Given the description of an element on the screen output the (x, y) to click on. 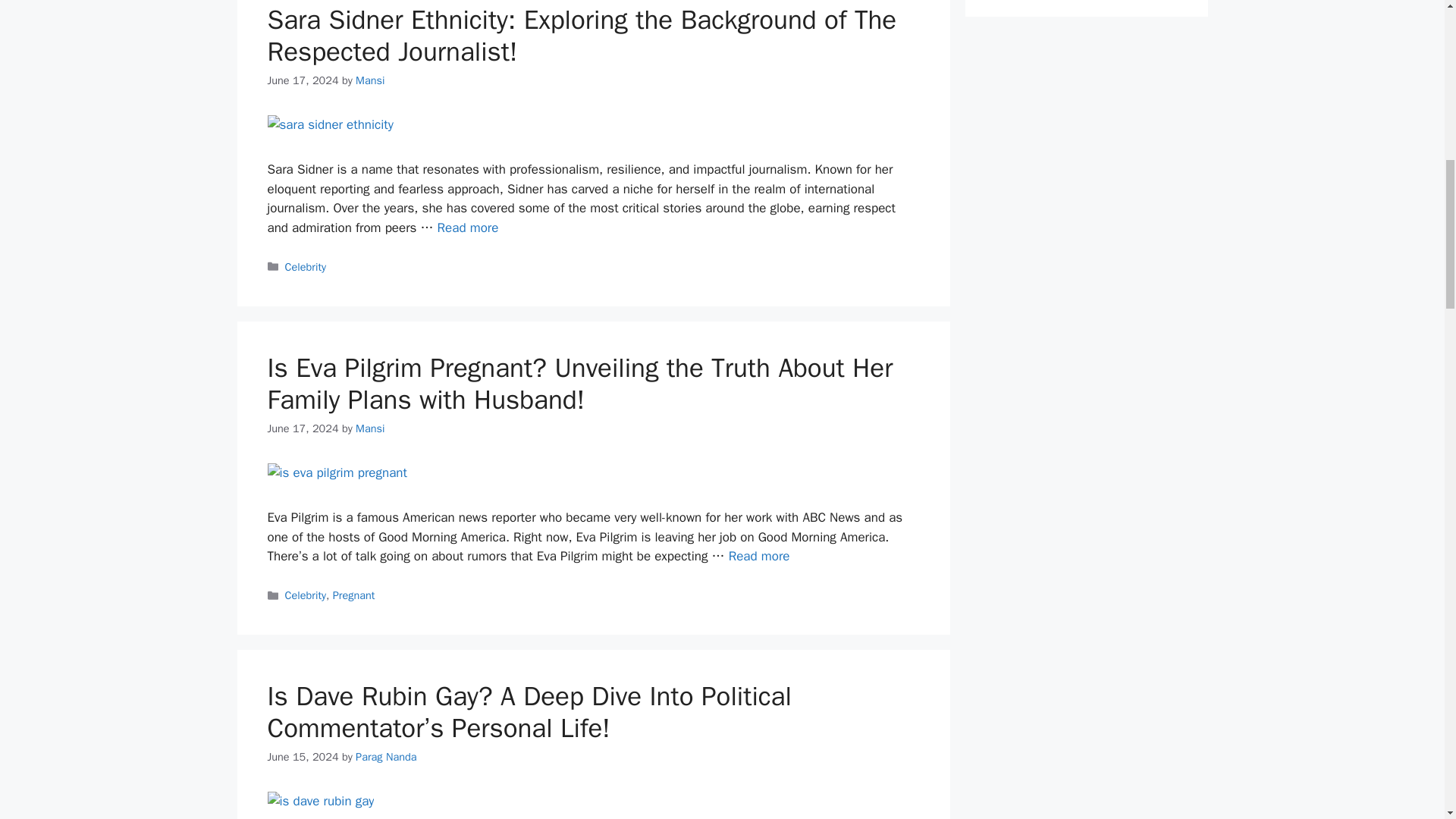
Parag Nanda (385, 756)
Mansi (369, 427)
Read more (759, 555)
View all posts by Parag Nanda (385, 756)
Celebrity (305, 266)
Read more (468, 227)
Mansi (369, 79)
View all posts by Mansi (369, 427)
View all posts by Mansi (369, 79)
Celebrity (305, 594)
Pregnant (354, 594)
